Given the description of an element on the screen output the (x, y) to click on. 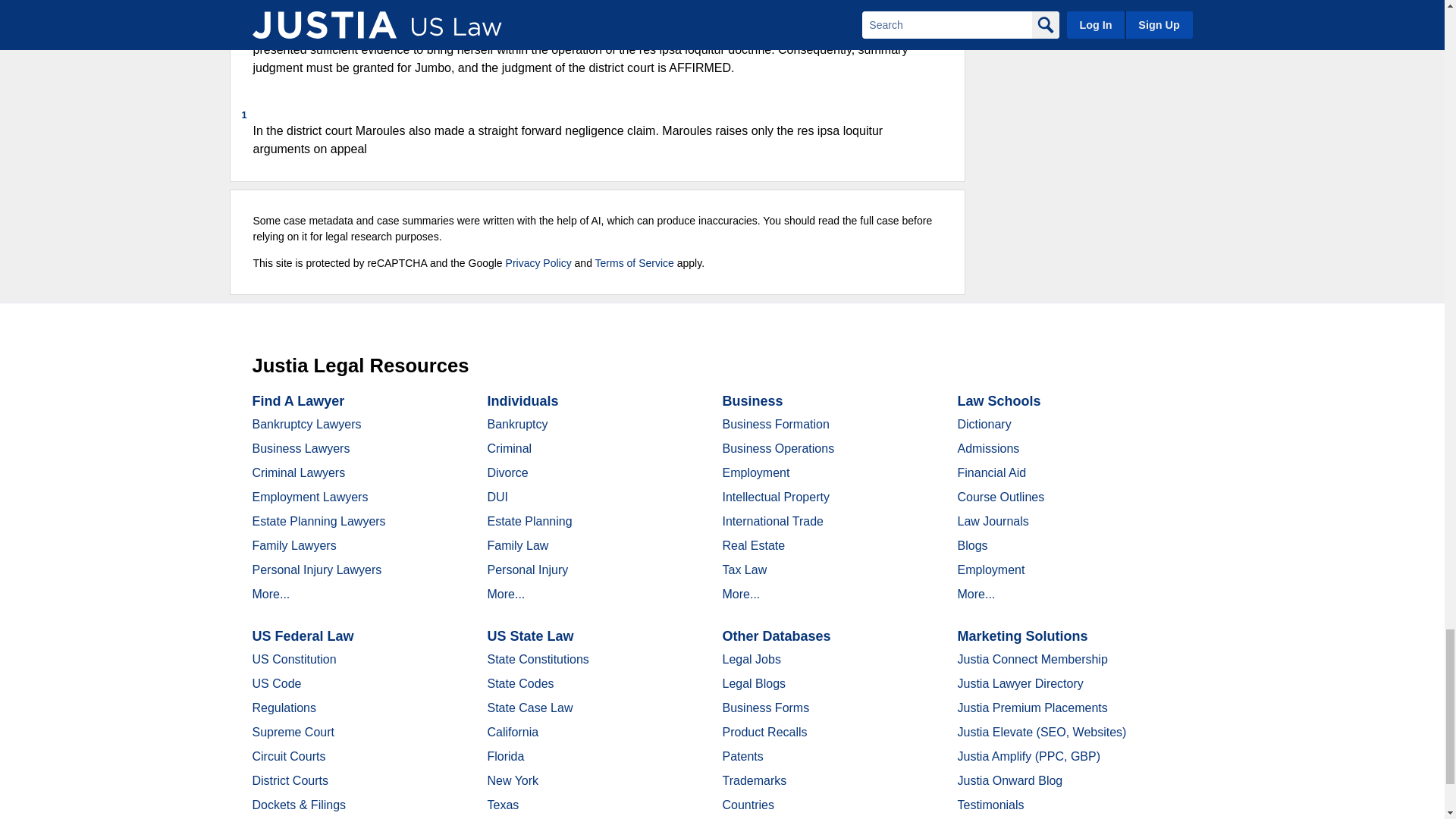
1 (590, 114)
